Given the description of an element on the screen output the (x, y) to click on. 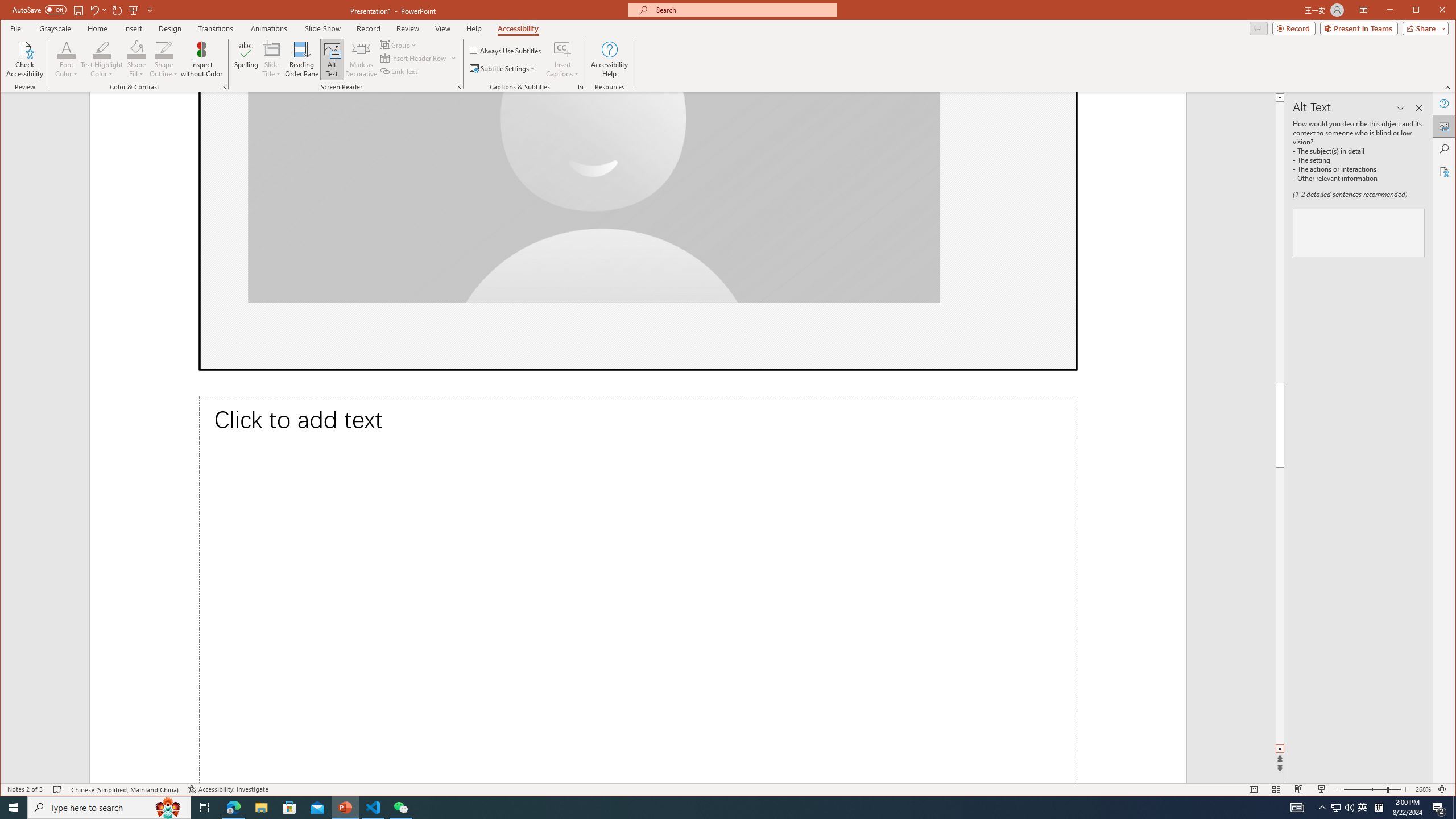
Always Use Subtitles (505, 49)
